Given the description of an element on the screen output the (x, y) to click on. 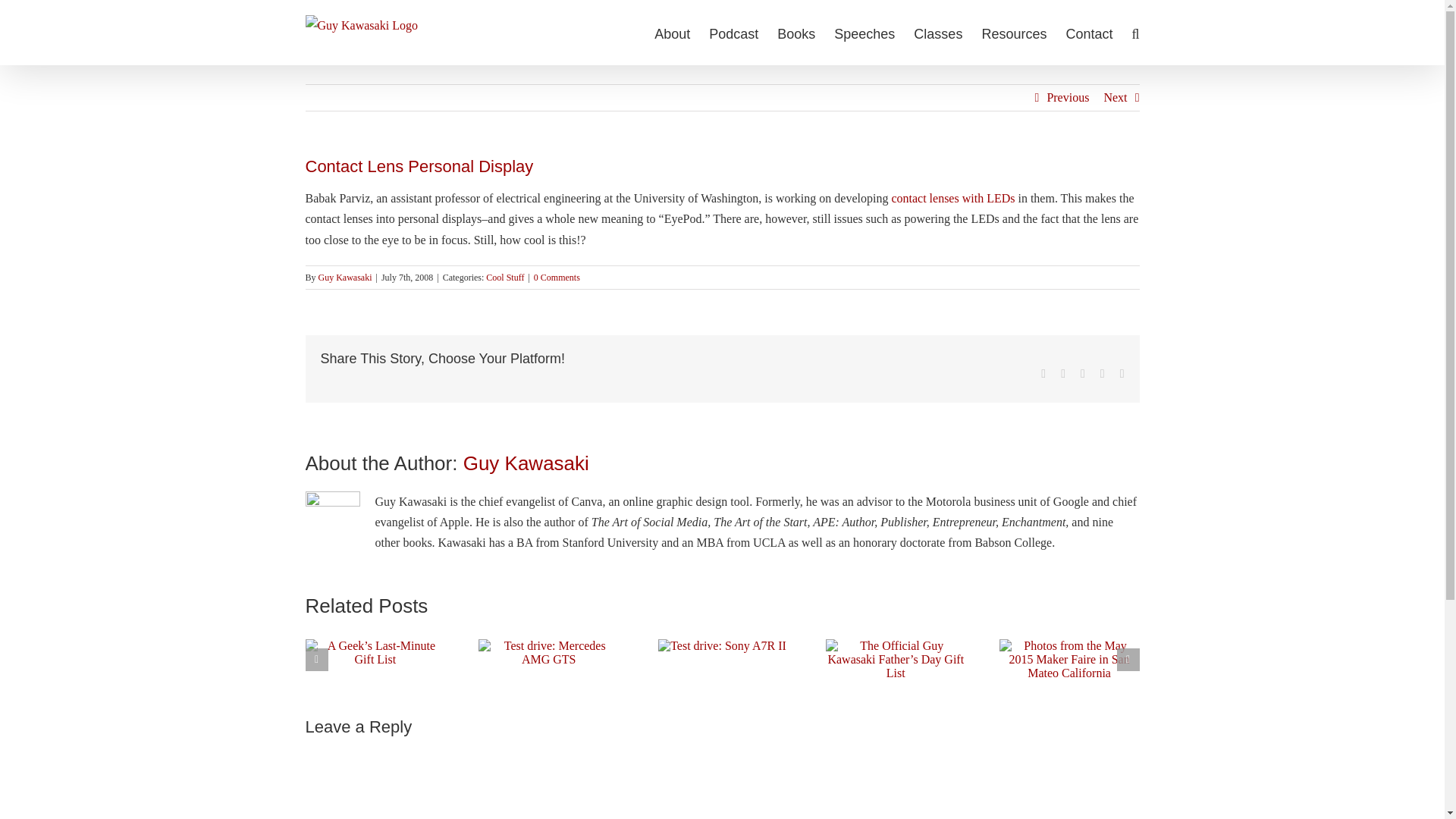
contact lenses with LEDs (952, 197)
Cool Stuff (505, 276)
Search (1134, 32)
About (671, 32)
Comment Form (721, 782)
Guy Kawasaki (345, 276)
Previous (1067, 97)
Guy Kawasaki (526, 463)
Next (1114, 97)
Contact (1088, 32)
LinkedIn (1102, 373)
LinkedIn (1102, 373)
Speeches (864, 32)
Email (1121, 373)
X (1063, 373)
